Given the description of an element on the screen output the (x, y) to click on. 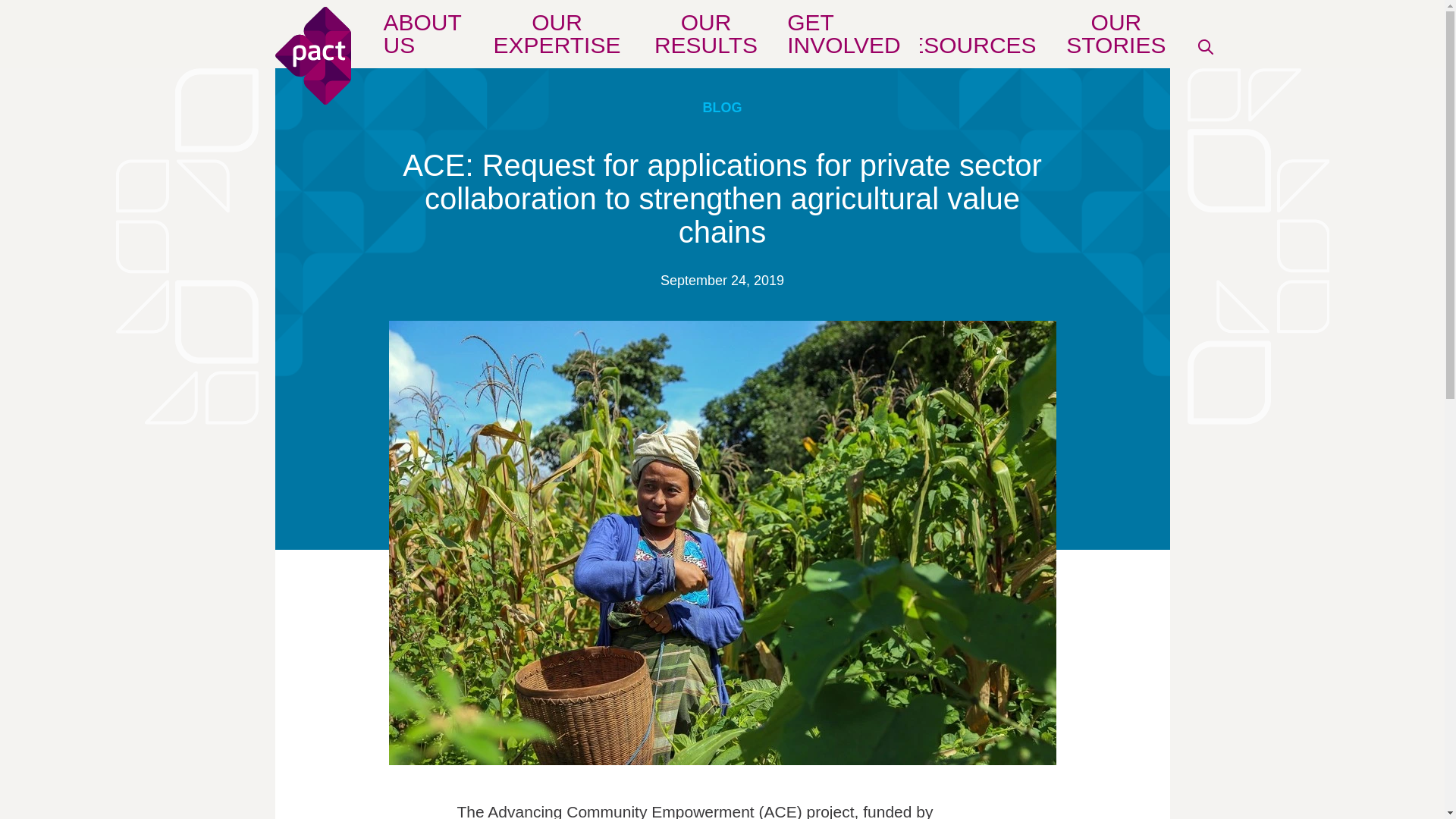
OUR STORIES (1116, 39)
OUR EXPERTISE (556, 39)
OUR RESULTS (706, 39)
